Given the description of an element on the screen output the (x, y) to click on. 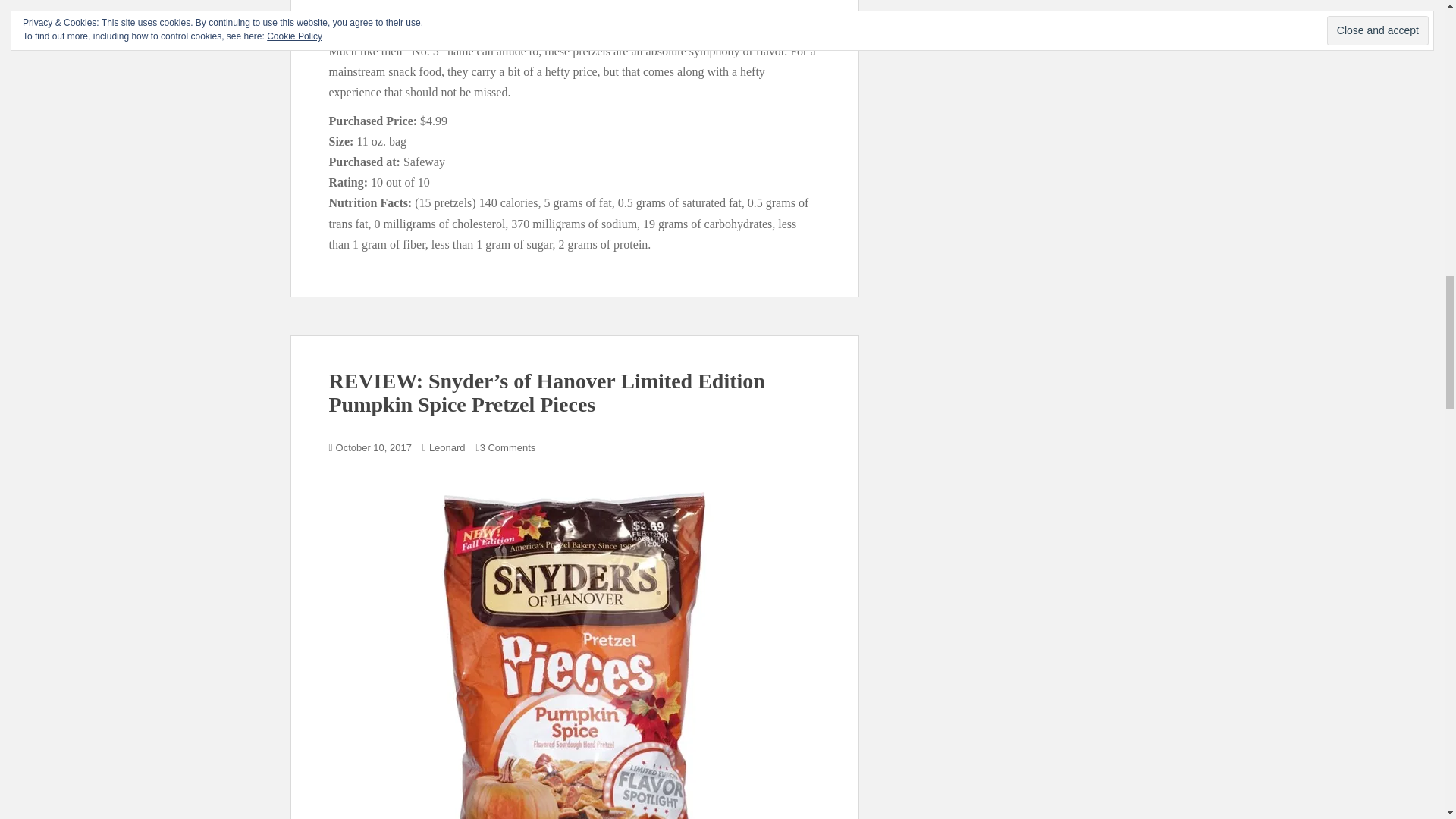
October 10, 2017 (374, 447)
3 Comments (507, 447)
Leonard (447, 447)
